Given the description of an element on the screen output the (x, y) to click on. 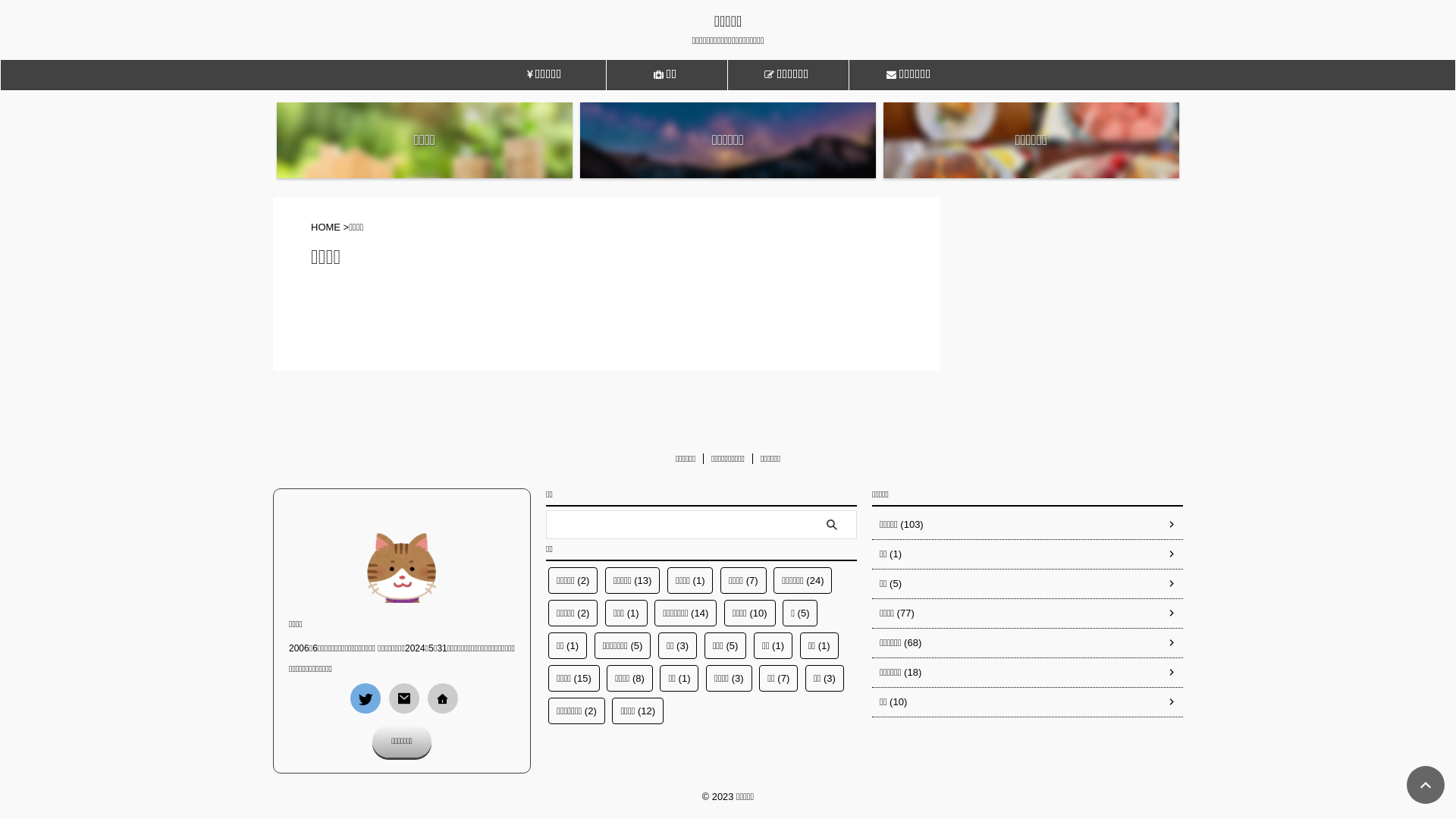
HOME Element type: text (325, 226)
